Given the description of an element on the screen output the (x, y) to click on. 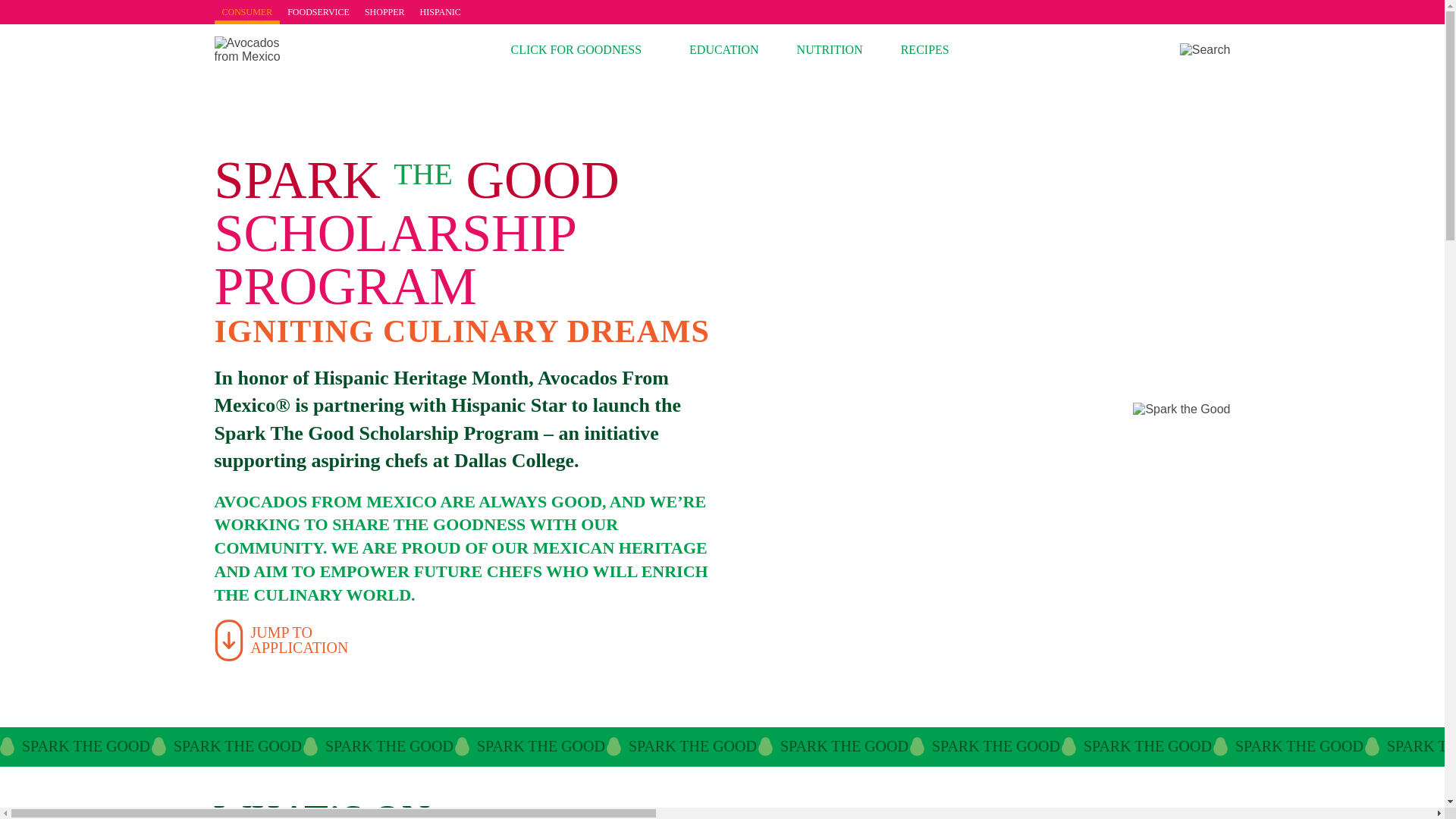
SHOPPER (384, 12)
FOODSERVICE (317, 12)
HISPANIC (440, 12)
EDUCATION (723, 49)
CONSUMER (280, 640)
RECIPES (246, 12)
search (925, 49)
NUTRITION (1204, 49)
CLICK FOR GOODNESS (829, 49)
